Given the description of an element on the screen output the (x, y) to click on. 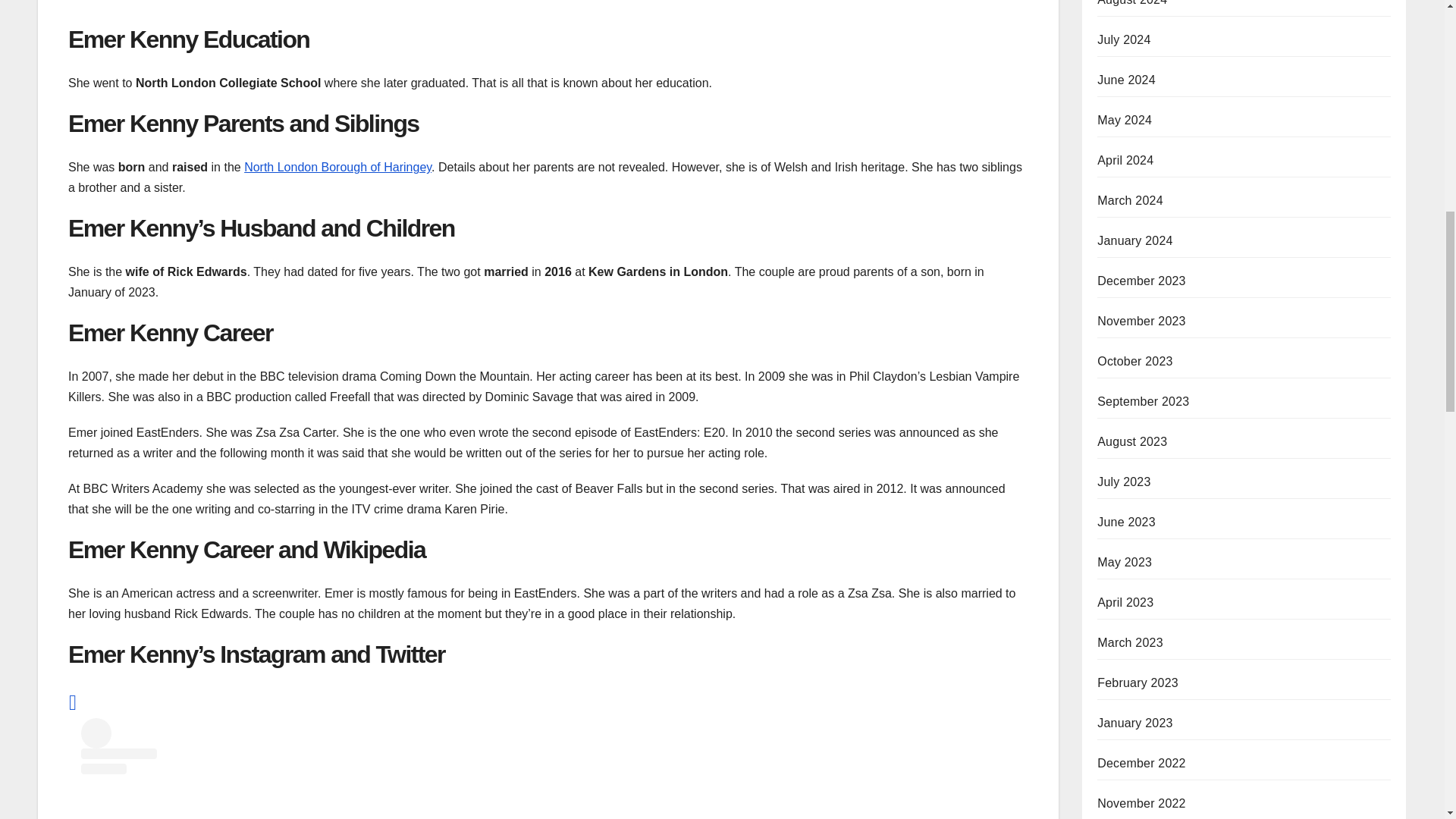
October 2023 (1134, 360)
April 2024 (1125, 160)
September 2023 (1143, 400)
July 2023 (1123, 481)
North London Borough of Haringey (337, 166)
July 2024 (1123, 39)
June 2023 (1126, 521)
March 2024 (1130, 200)
November 2023 (1141, 320)
August 2023 (1132, 440)
